Given the description of an element on the screen output the (x, y) to click on. 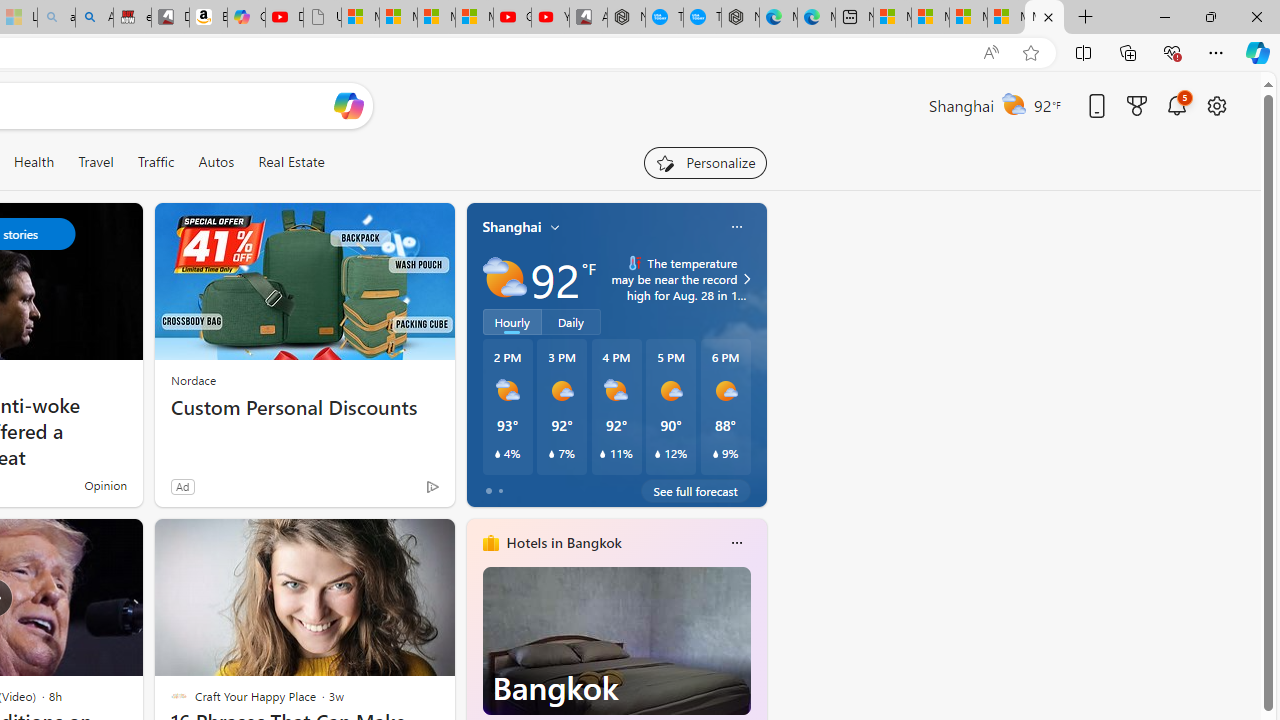
Partly sunny (504, 278)
Partly sunny (504, 278)
Nordace - Nordace has arrived Hong Kong (740, 17)
Class: icon-img (736, 542)
This story is trending (393, 490)
The most popular Google 'how to' searches (701, 17)
